Given the description of an element on the screen output the (x, y) to click on. 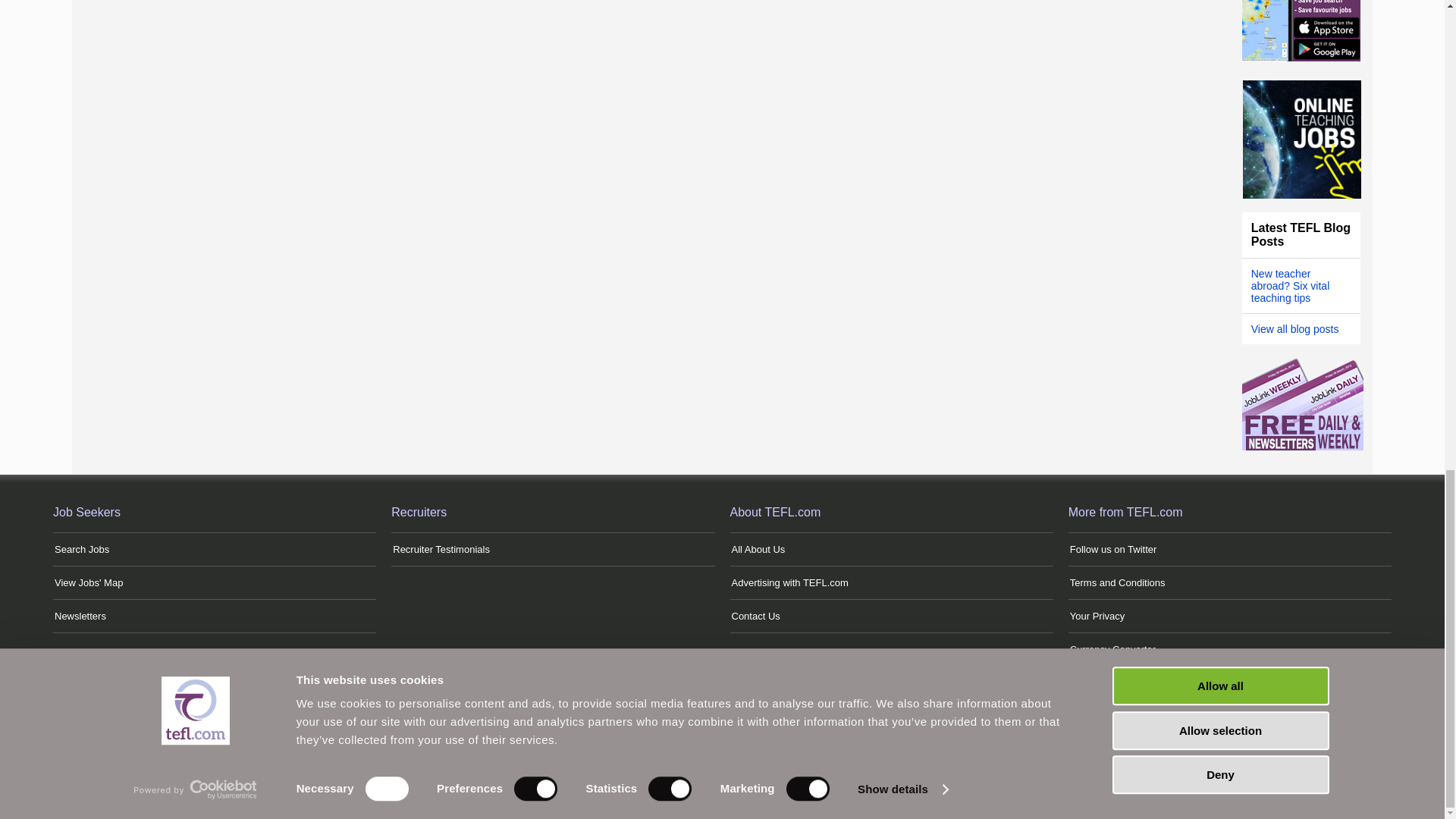
This link opens in a new window (1113, 549)
Search Online Teaching Jobs (1302, 139)
Facebook (667, 754)
Twitter (632, 754)
Free newsletters (1301, 402)
Twitter (596, 754)
Free newsletters (1301, 447)
Instagram (704, 754)
